Given the description of an element on the screen output the (x, y) to click on. 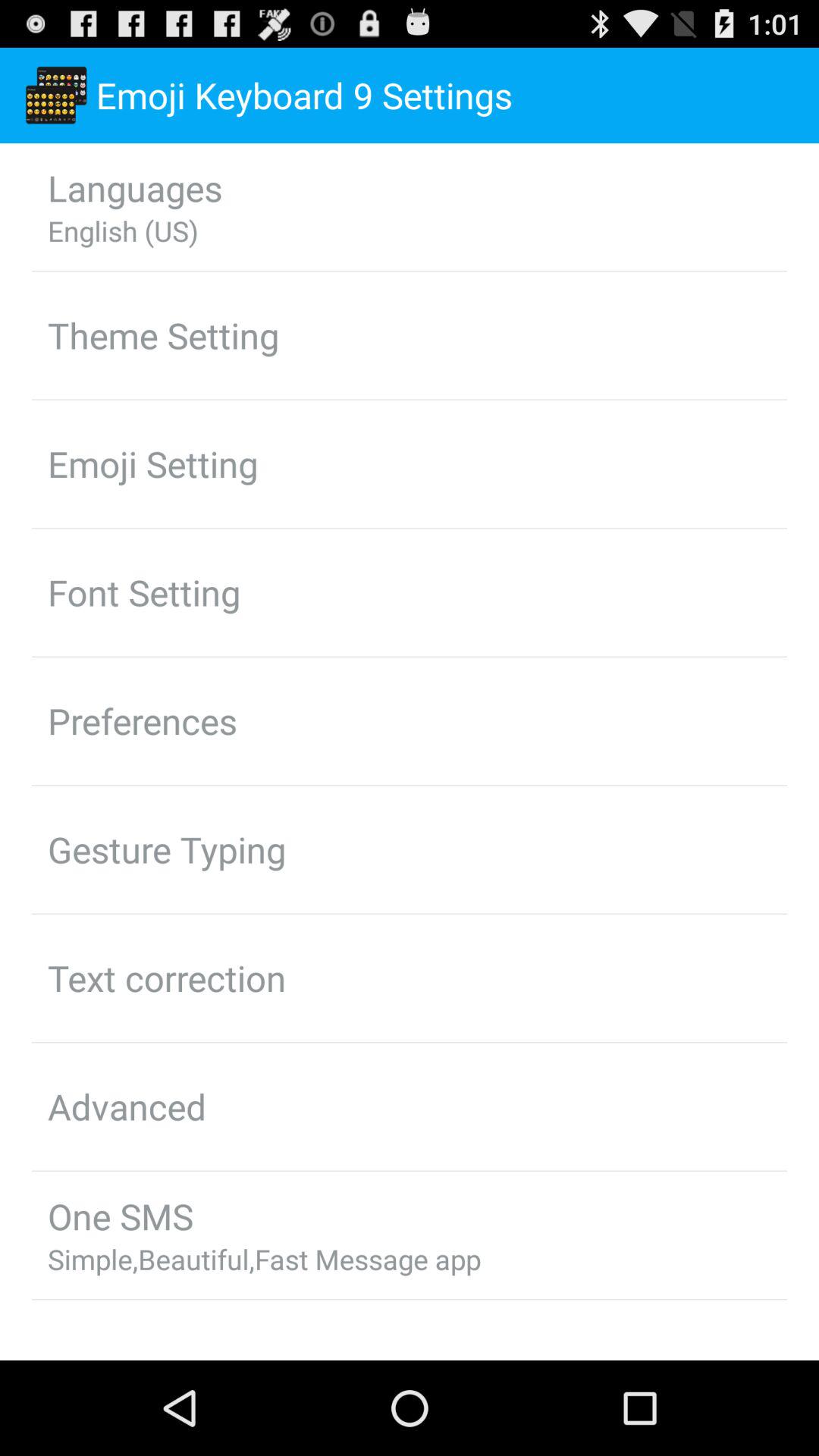
choose the theme setting item (163, 335)
